Given the description of an element on the screen output the (x, y) to click on. 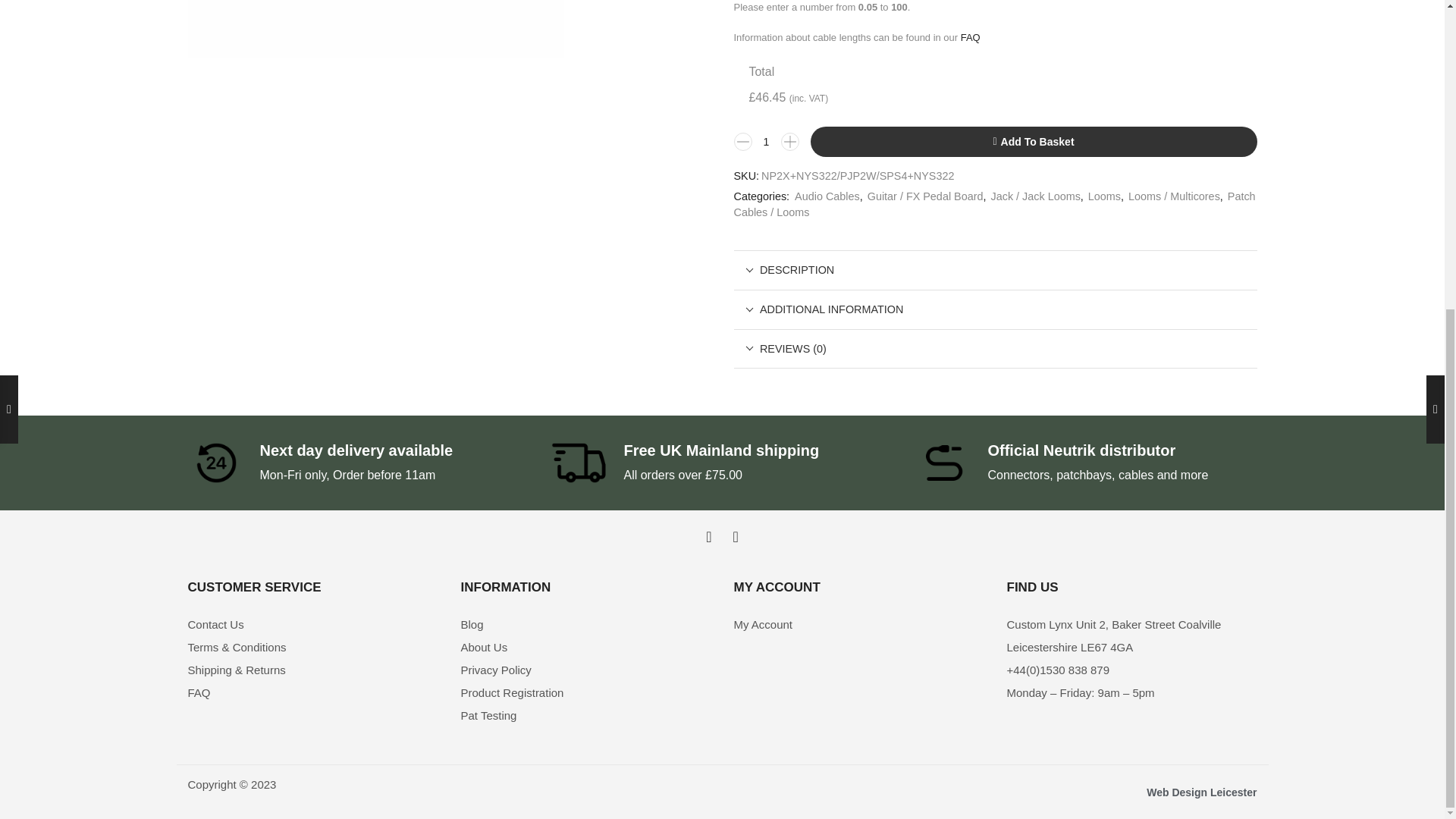
1 (766, 141)
Blog (586, 624)
 Privacy Policy (586, 670)
Contact Us (312, 624)
FAQ (312, 692)
Pat Testing (586, 715)
My Account (858, 624)
Product Registration  (586, 692)
